Given the description of an element on the screen output the (x, y) to click on. 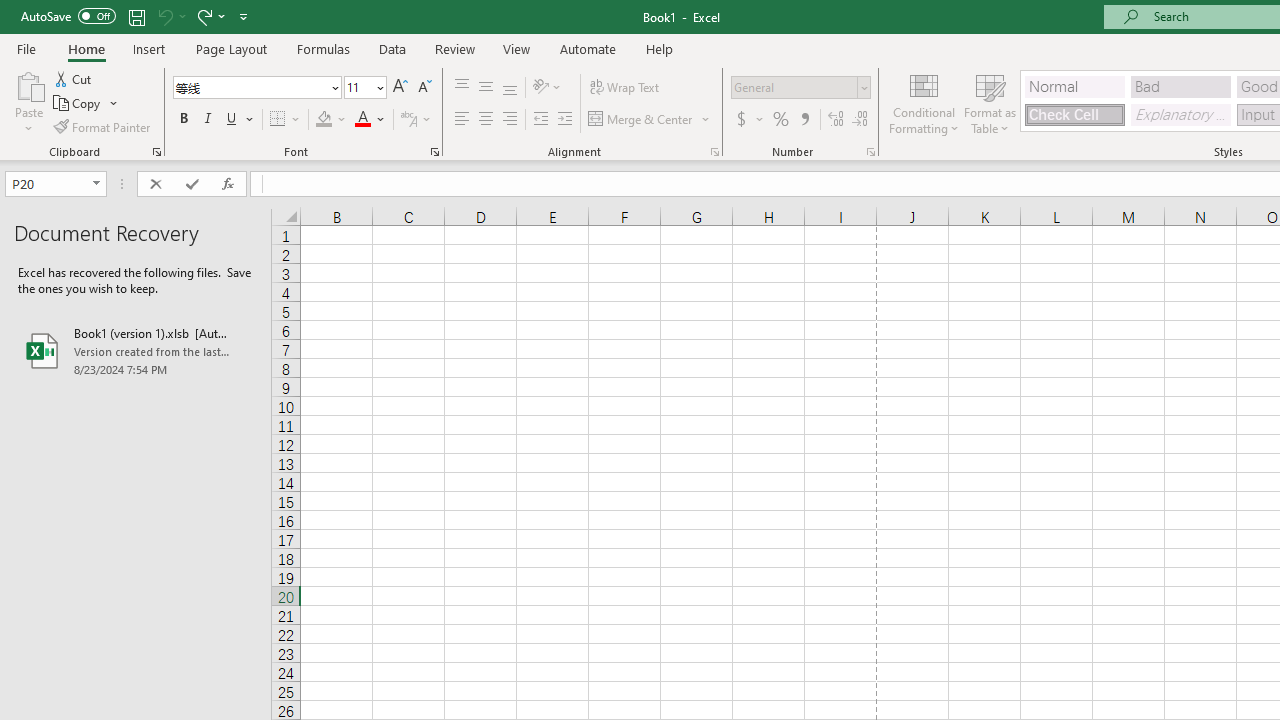
Underline (232, 119)
Underline (239, 119)
Percent Style (781, 119)
Merge & Center (641, 119)
Font Color RGB(255, 0, 0) (362, 119)
Format Cell Font (434, 151)
Increase Font Size (399, 87)
Undo (170, 15)
Format Cell Number (870, 151)
Font Size (358, 87)
Top Align (461, 87)
System (10, 11)
Borders (285, 119)
Bad (1180, 86)
Format as Table (990, 102)
